Given the description of an element on the screen output the (x, y) to click on. 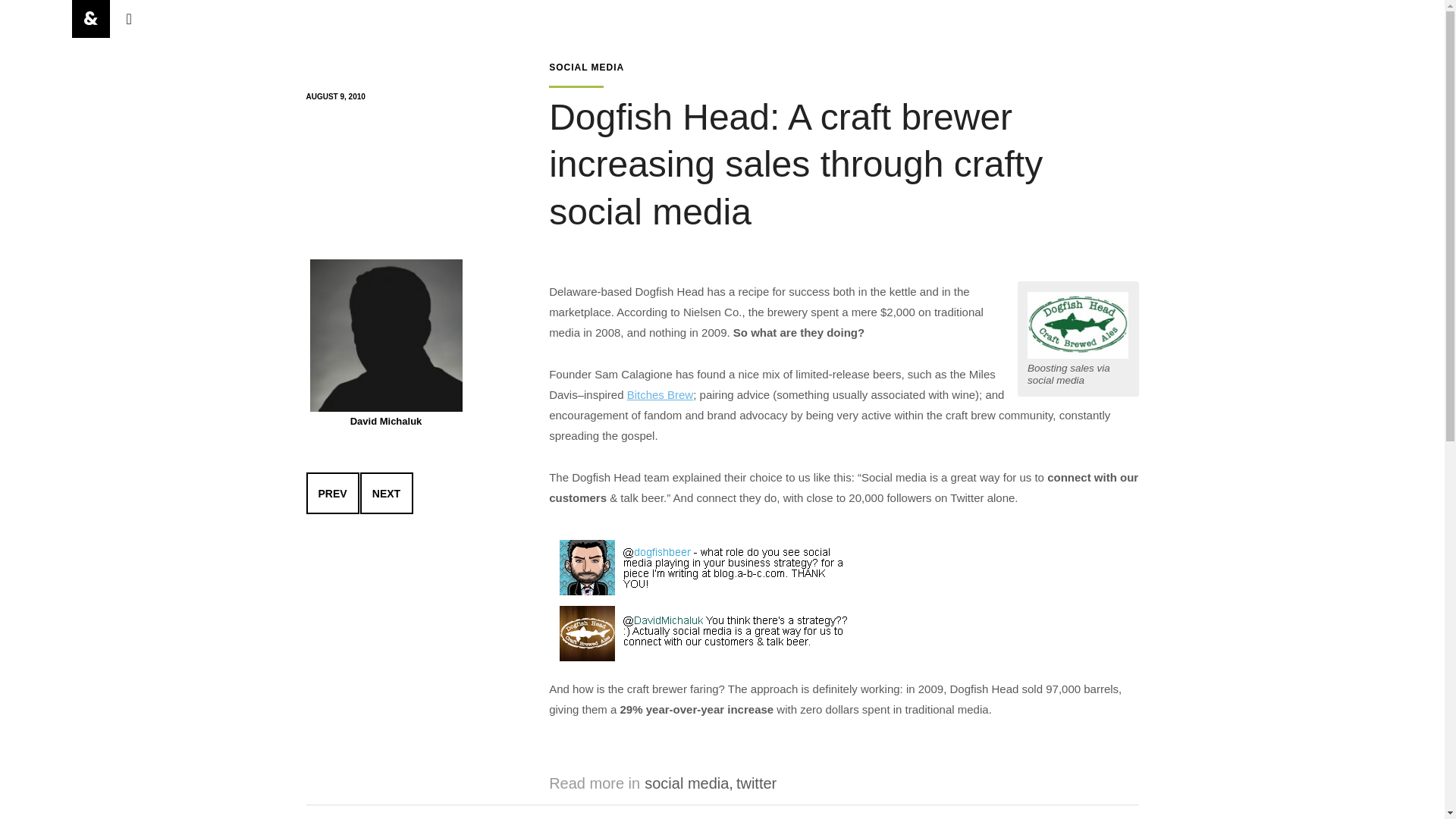
dogfishbeer-davidmichaluk (704, 600)
Dogfish Head Logo (1077, 325)
